Given the description of an element on the screen output the (x, y) to click on. 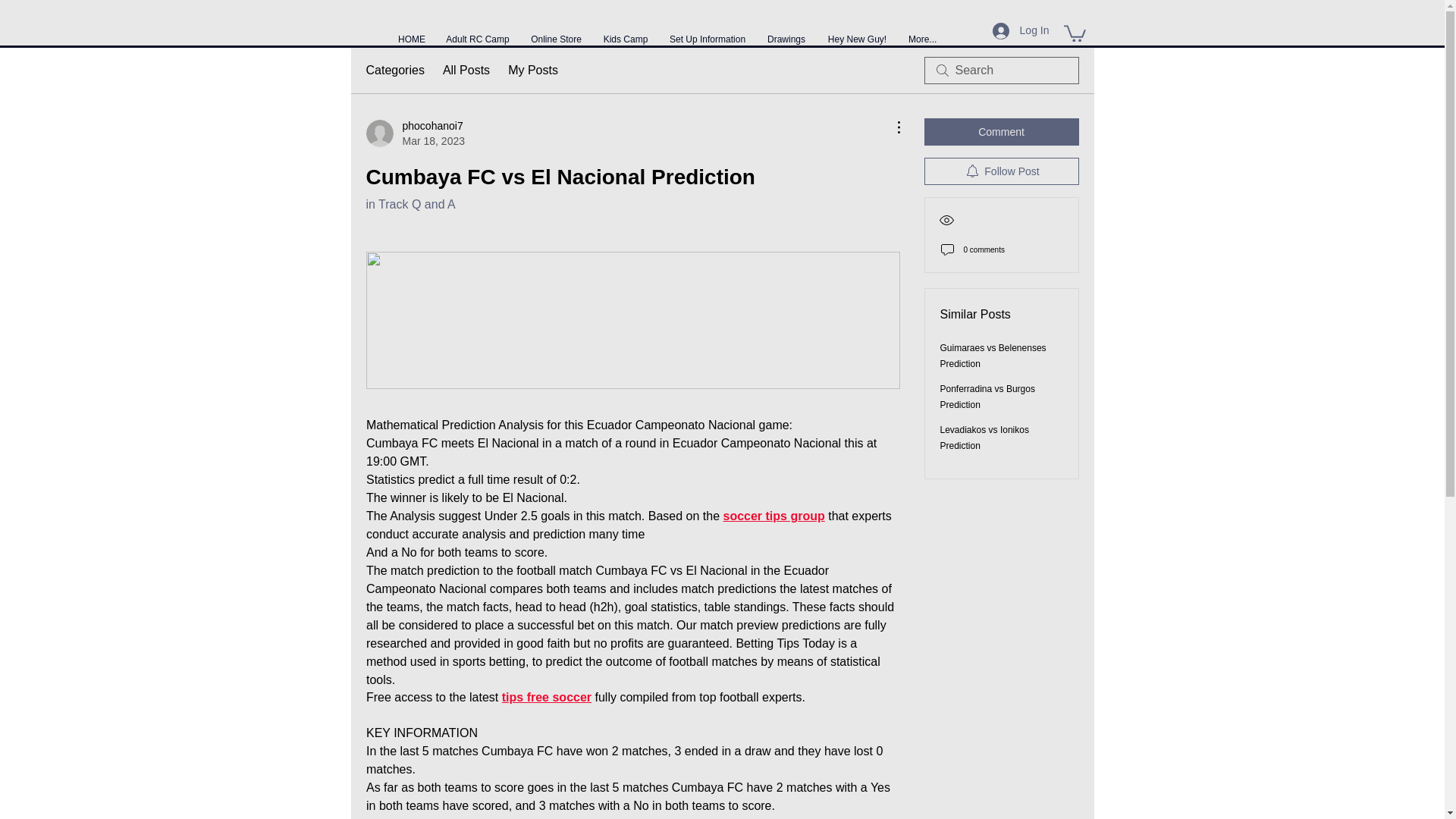
My Posts (532, 70)
Adult RC Camp (477, 32)
Online Store (555, 32)
in Track Q and A (409, 204)
tips free soccer (545, 697)
Categories (394, 70)
HOME (411, 32)
Guimaraes vs Belenenses Prediction (993, 356)
soccer tips group (773, 516)
Set Up Information (707, 32)
Log In (1020, 31)
Comment (1000, 131)
Follow Post (1000, 171)
Hey New Guy! (857, 32)
Kids Camp (625, 32)
